Given the description of an element on the screen output the (x, y) to click on. 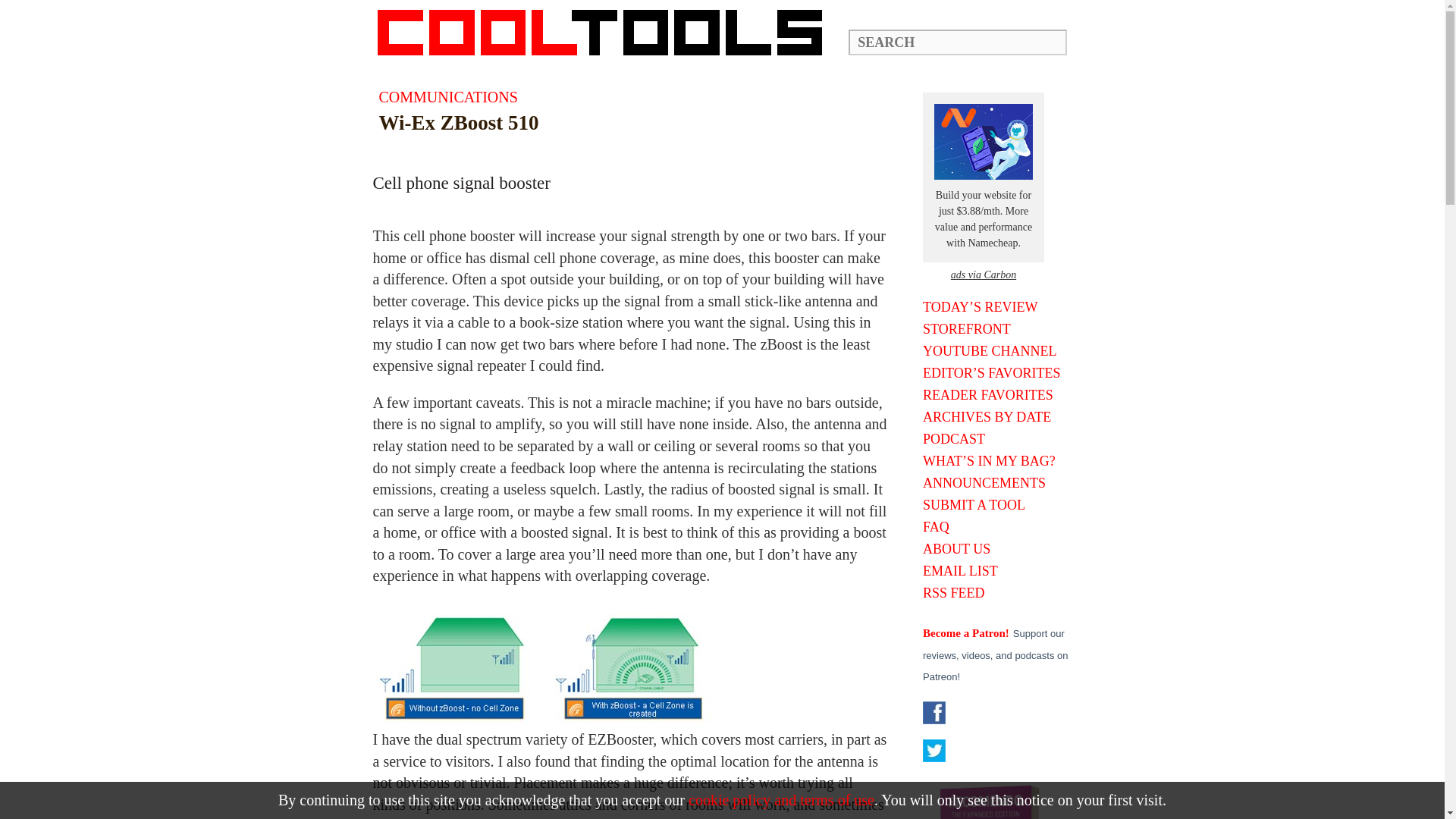
PODCAST (998, 438)
READER FAVORITES (998, 394)
FAQ (998, 526)
EMAIL LIST (998, 570)
COMMUNICATIONS (448, 96)
ANNOUNCEMENTS (998, 482)
Cool Tools (607, 32)
YOUTUBE CHANNEL (998, 350)
ARCHIVES BY DATE (998, 417)
STOREFRONT (998, 328)
